Given the description of an element on the screen output the (x, y) to click on. 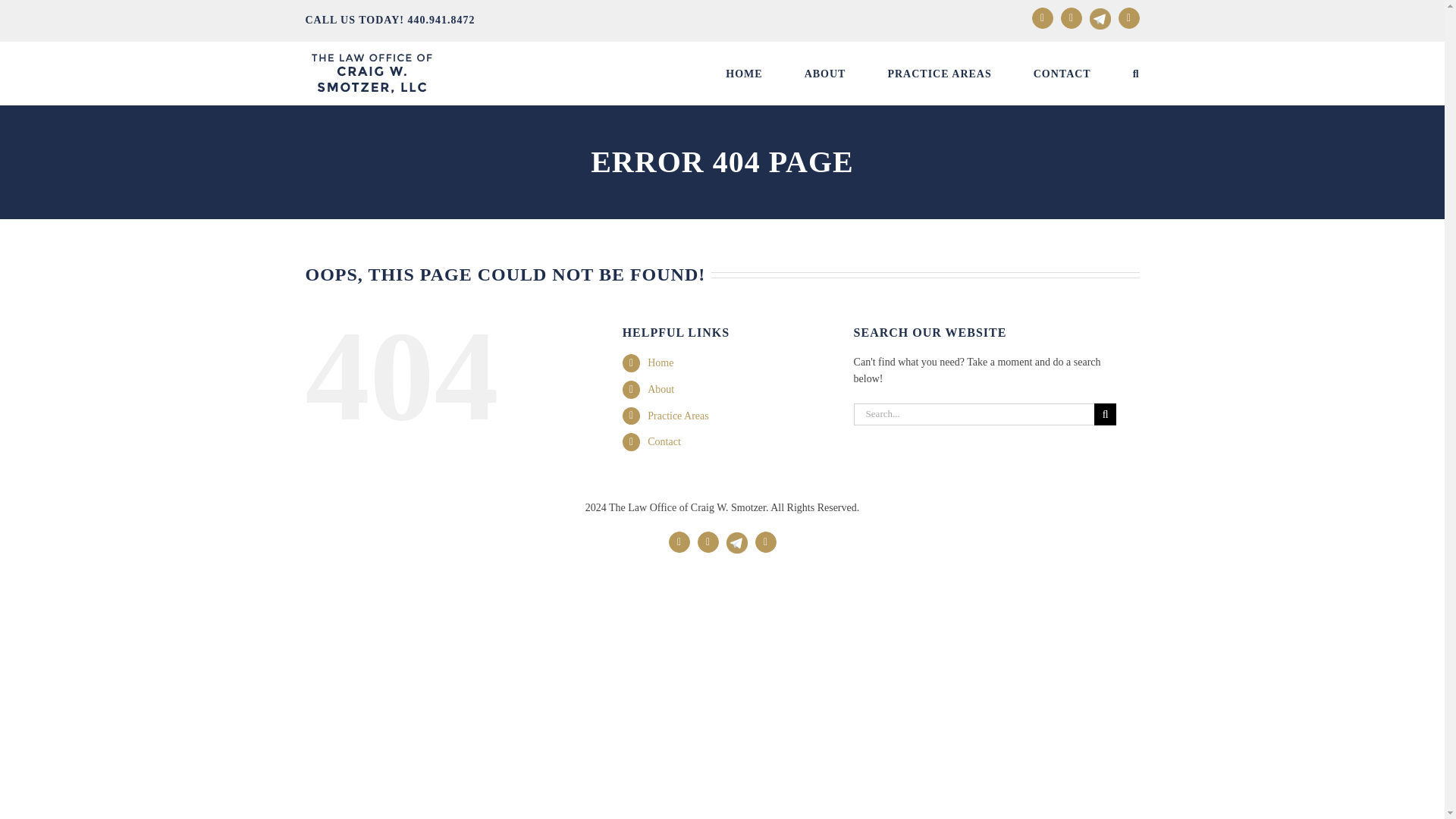
Telegram (737, 534)
Contact (664, 441)
facebook (1042, 17)
facebook (1042, 17)
tumblr (1129, 17)
Telegram (1099, 18)
linkedin (708, 541)
facebook (679, 541)
facebook (679, 541)
tumblr (765, 541)
PRACTICE AREAS (938, 73)
Telegram (737, 534)
linkedin (1071, 17)
linkedin (708, 541)
tumblr (765, 541)
